Given the description of an element on the screen output the (x, y) to click on. 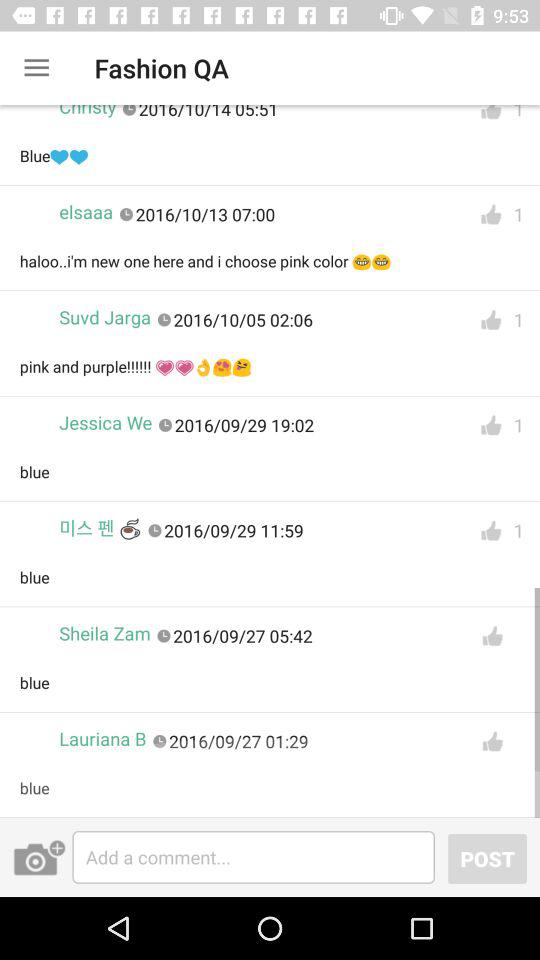
upload a photo (39, 857)
